Given the description of an element on the screen output the (x, y) to click on. 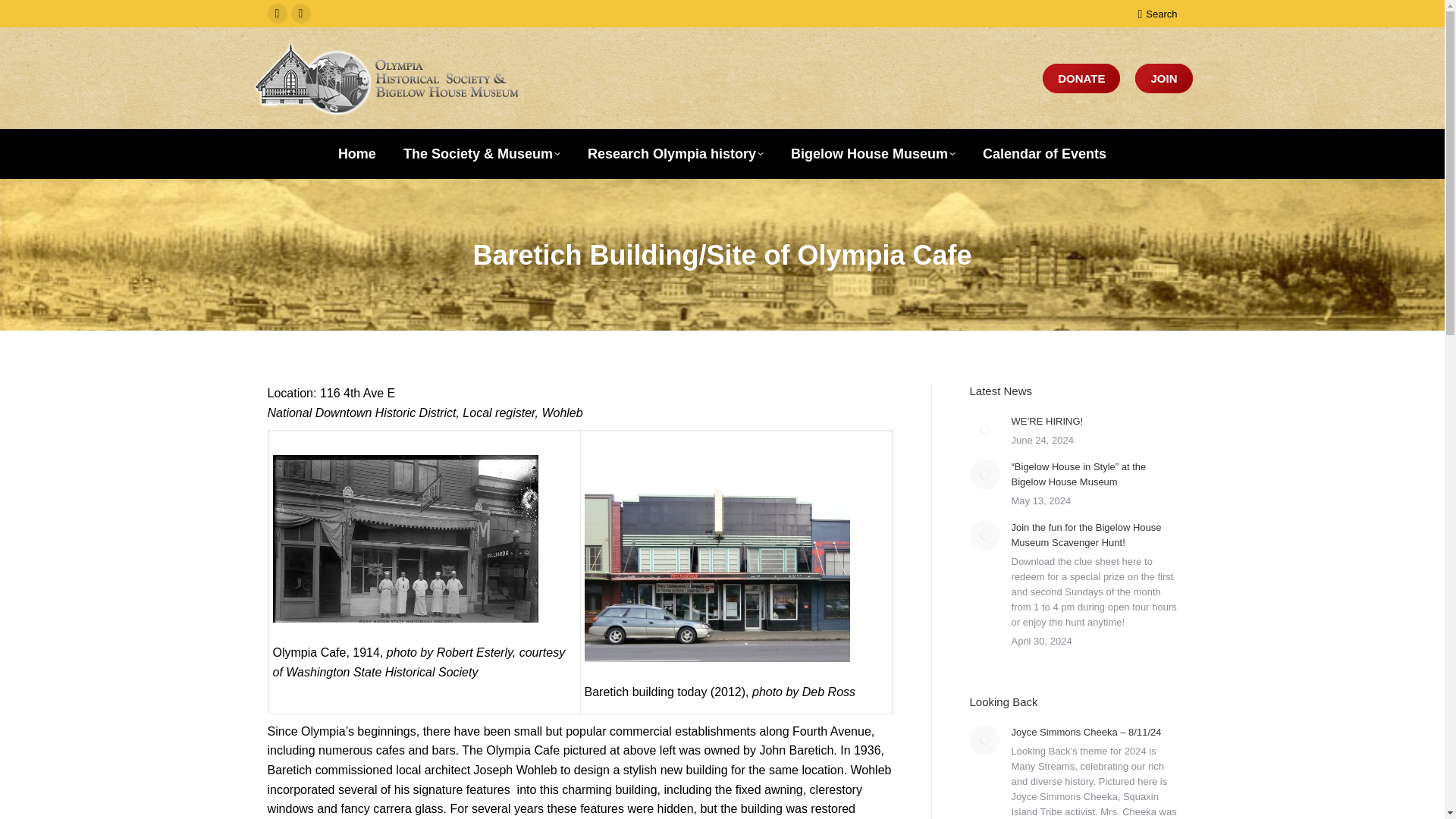
Research Olympia history (676, 153)
Home (356, 153)
DONATE (1080, 78)
Facebook page opens in new window (276, 13)
Facebook page opens in new window (276, 13)
Search (1156, 12)
X page opens in new window (301, 13)
Go! (24, 16)
X page opens in new window (301, 13)
JOIN (1163, 78)
